Given the description of an element on the screen output the (x, y) to click on. 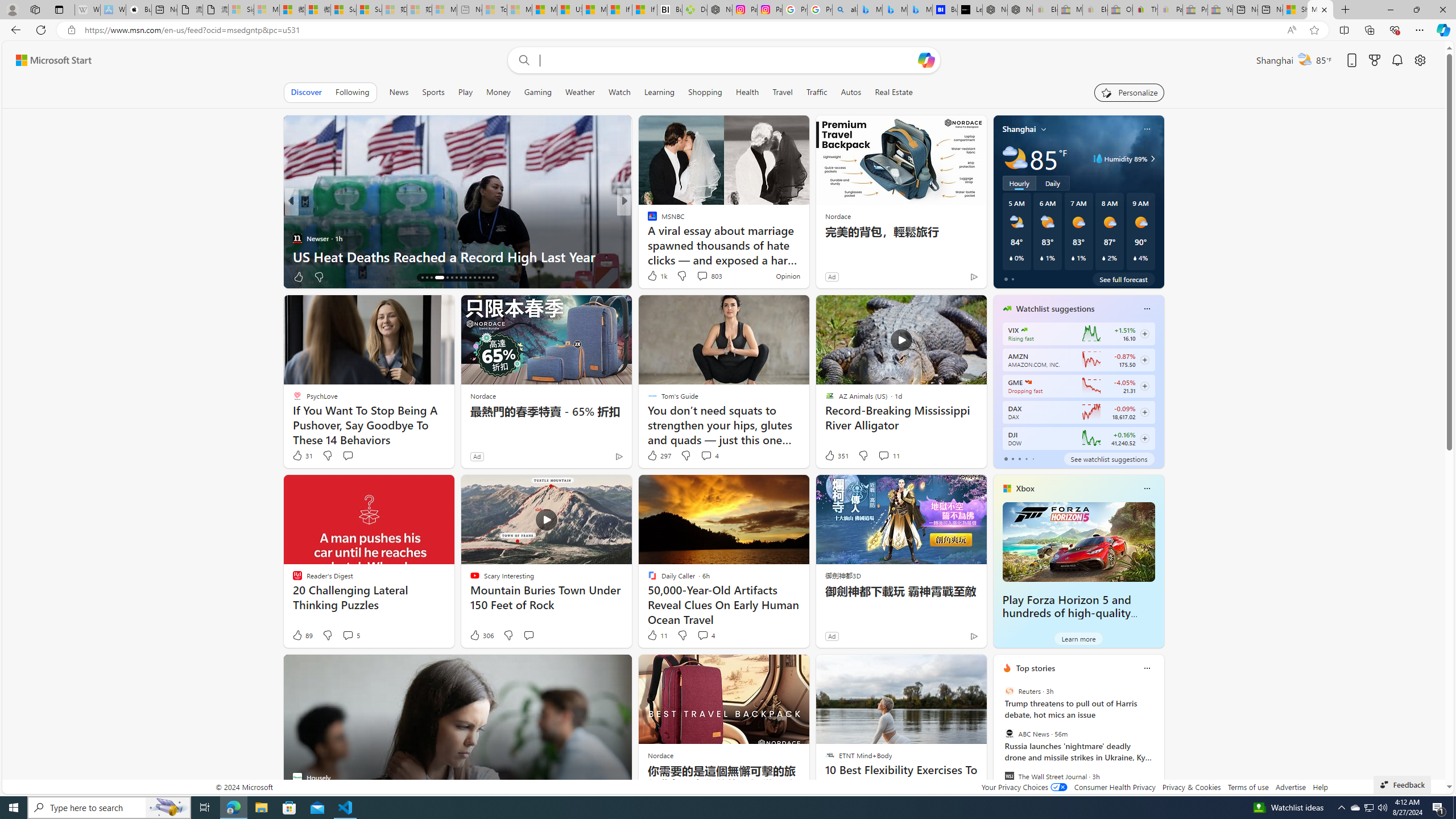
Humidity 89% (1150, 158)
View comments 2 Comment (702, 276)
11 Like (657, 634)
next (1158, 741)
View comments 5 Comment (350, 634)
